Given the description of an element on the screen output the (x, y) to click on. 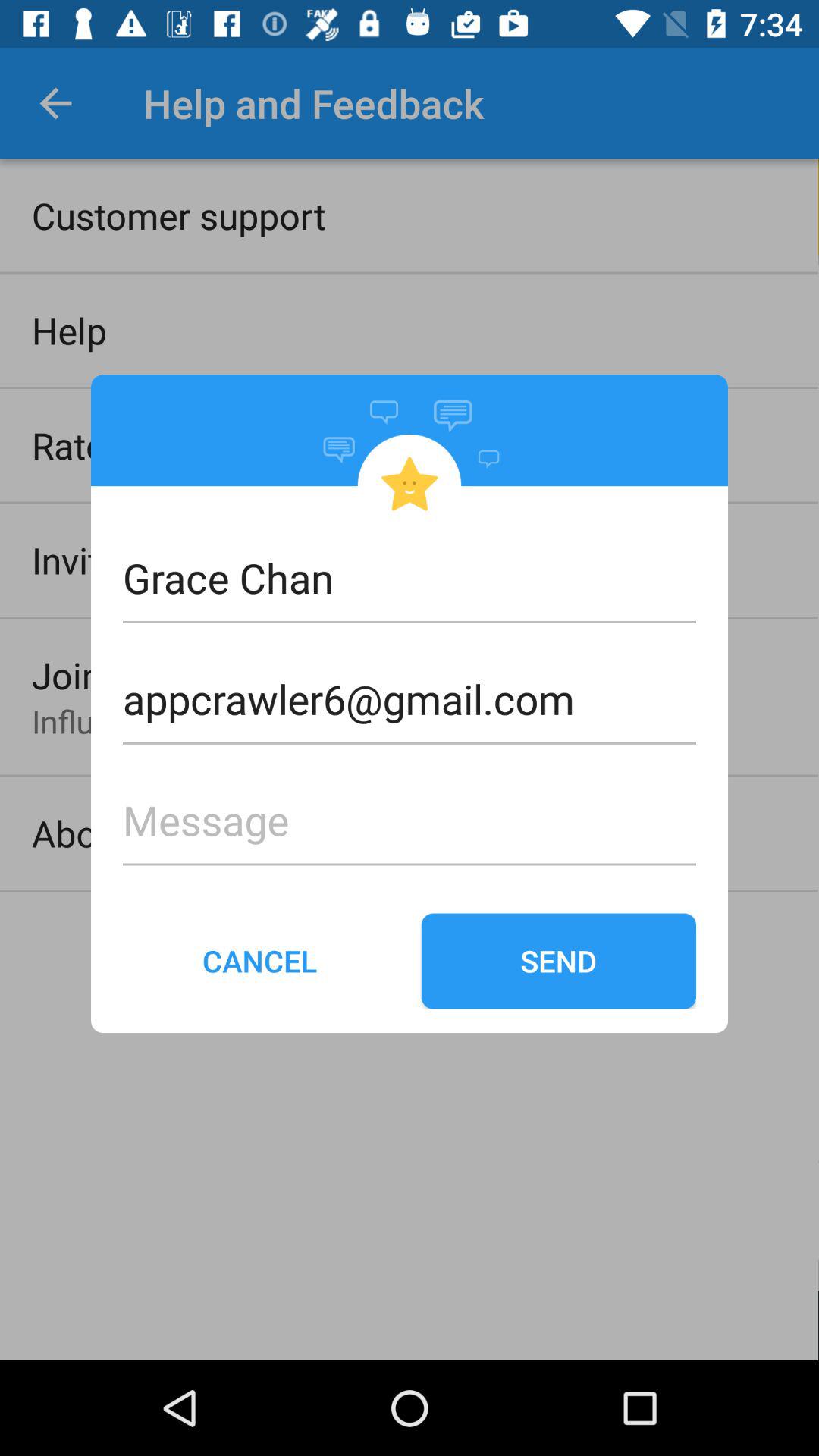
tap appcrawler6@gmail.com icon (409, 674)
